Given the description of an element on the screen output the (x, y) to click on. 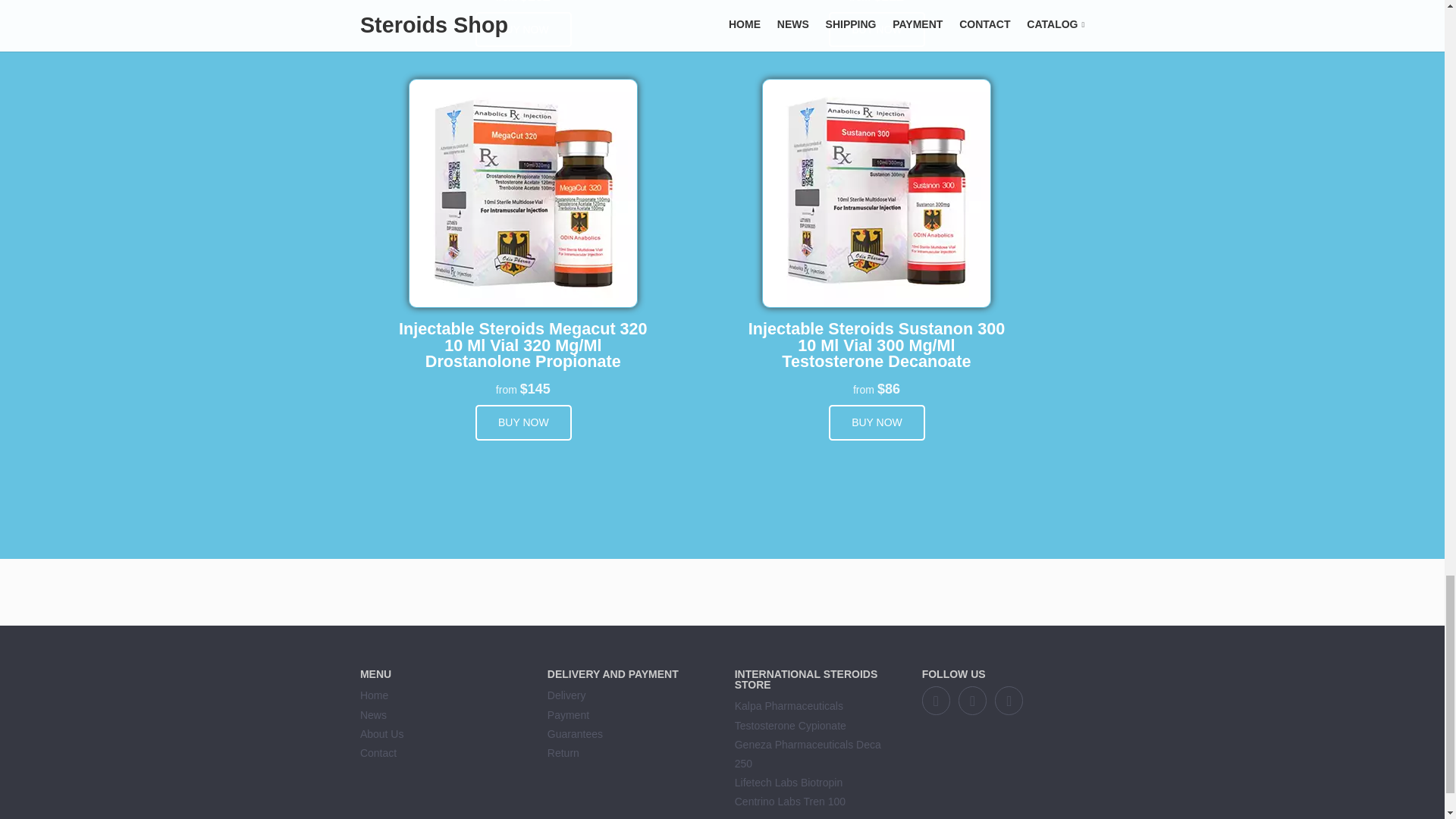
BUY NOW (876, 29)
BUY NOW (524, 29)
BUY NOW (876, 422)
BUY NOW (524, 422)
